Given the description of an element on the screen output the (x, y) to click on. 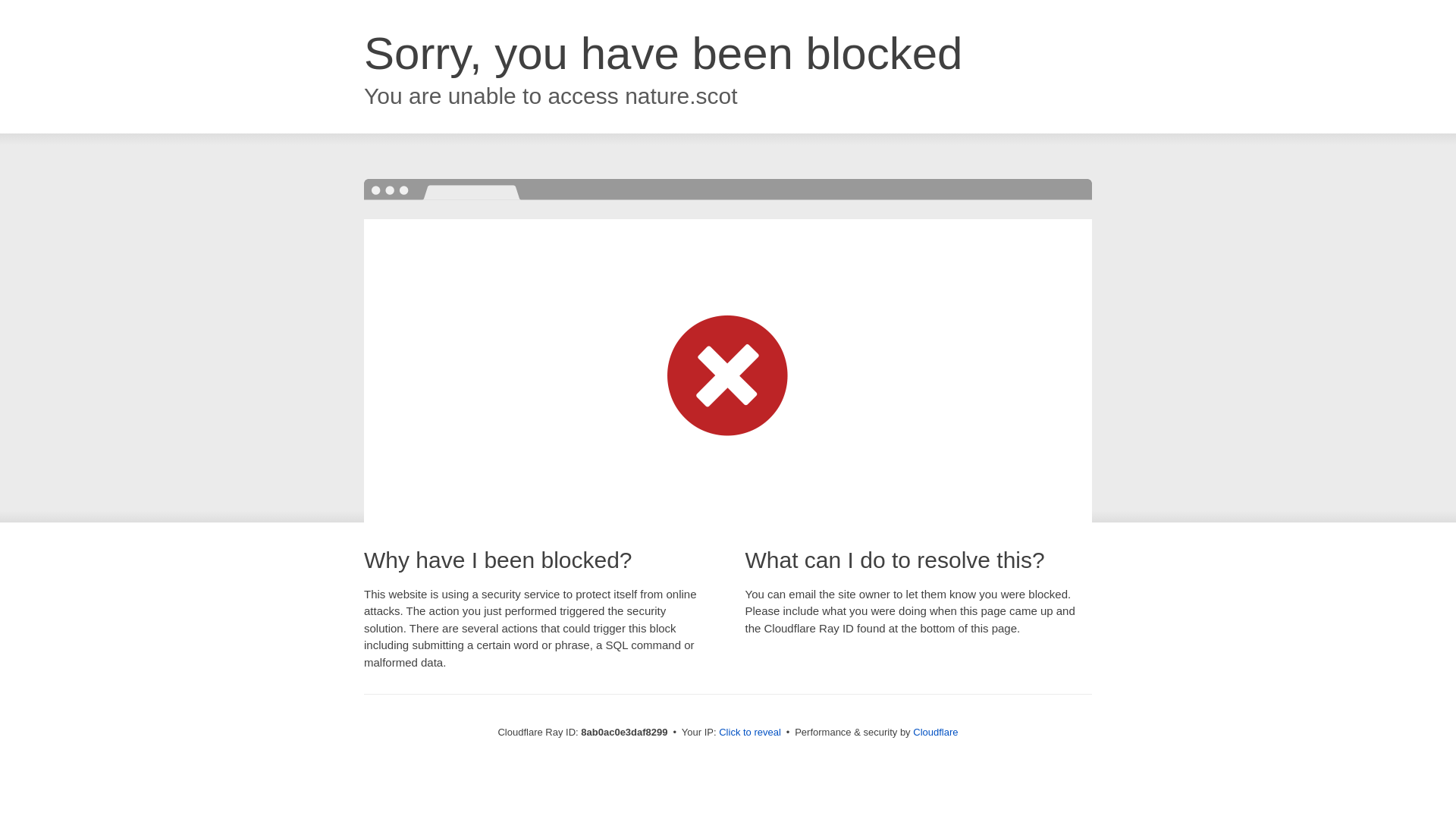
Cloudflare (935, 731)
Click to reveal (749, 732)
